Given the description of an element on the screen output the (x, y) to click on. 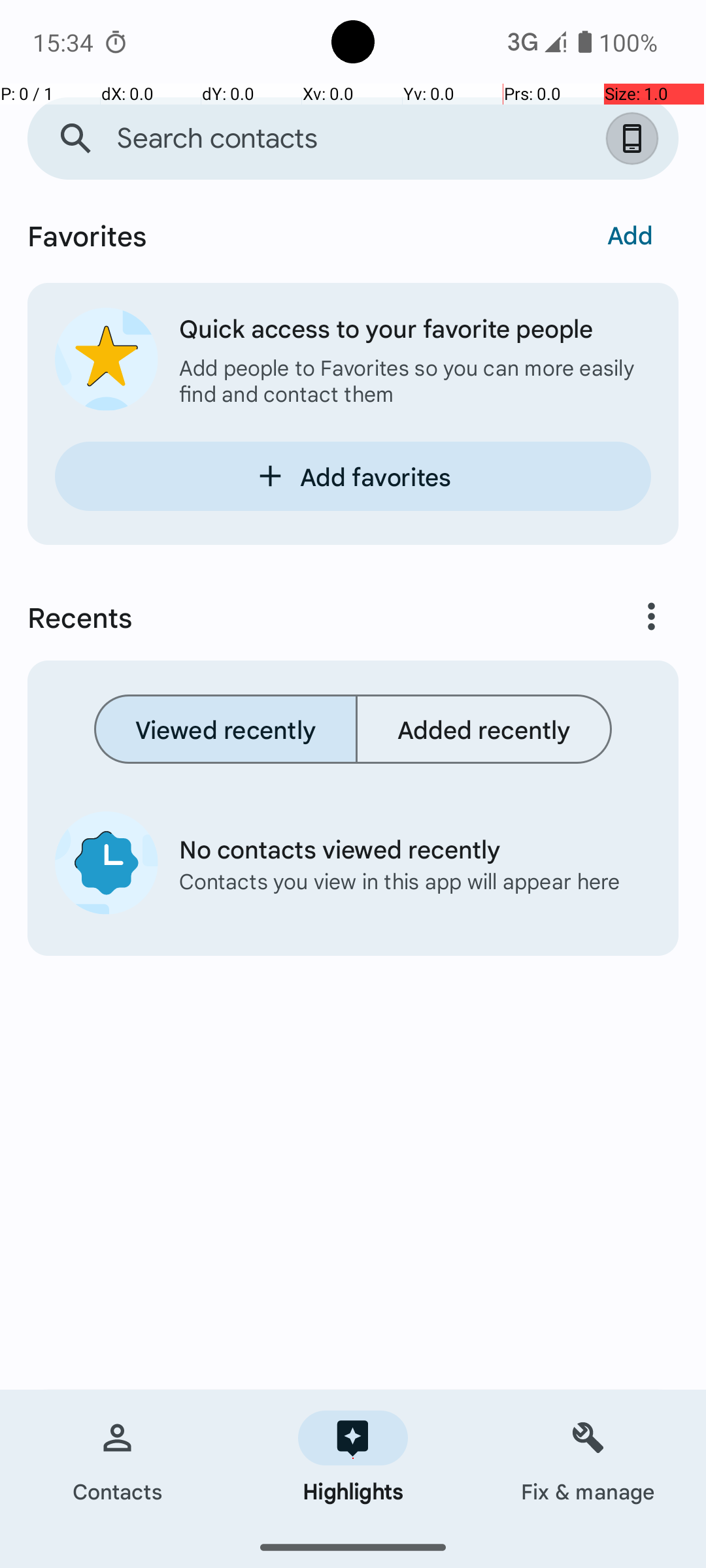
Favorites Element type: android.widget.TextView (277, 238)
Add Element type: android.widget.Button (630, 234)
Quick access to your favorite people Element type: android.widget.TextView (415, 327)
Add people to Favorites so you can more easily find and contact them Element type: android.widget.TextView (415, 379)
Add favorites Element type: android.widget.Button (352, 476)
Recents Element type: android.widget.TextView (298, 616)
No contacts viewed recently Element type: android.widget.TextView (404, 848)
Contacts you view in this app will appear here Element type: android.widget.TextView (404, 880)
Viewed recently Element type: android.widget.CompoundButton (225, 728)
Added recently Element type: android.widget.CompoundButton (483, 728)
